Given the description of an element on the screen output the (x, y) to click on. 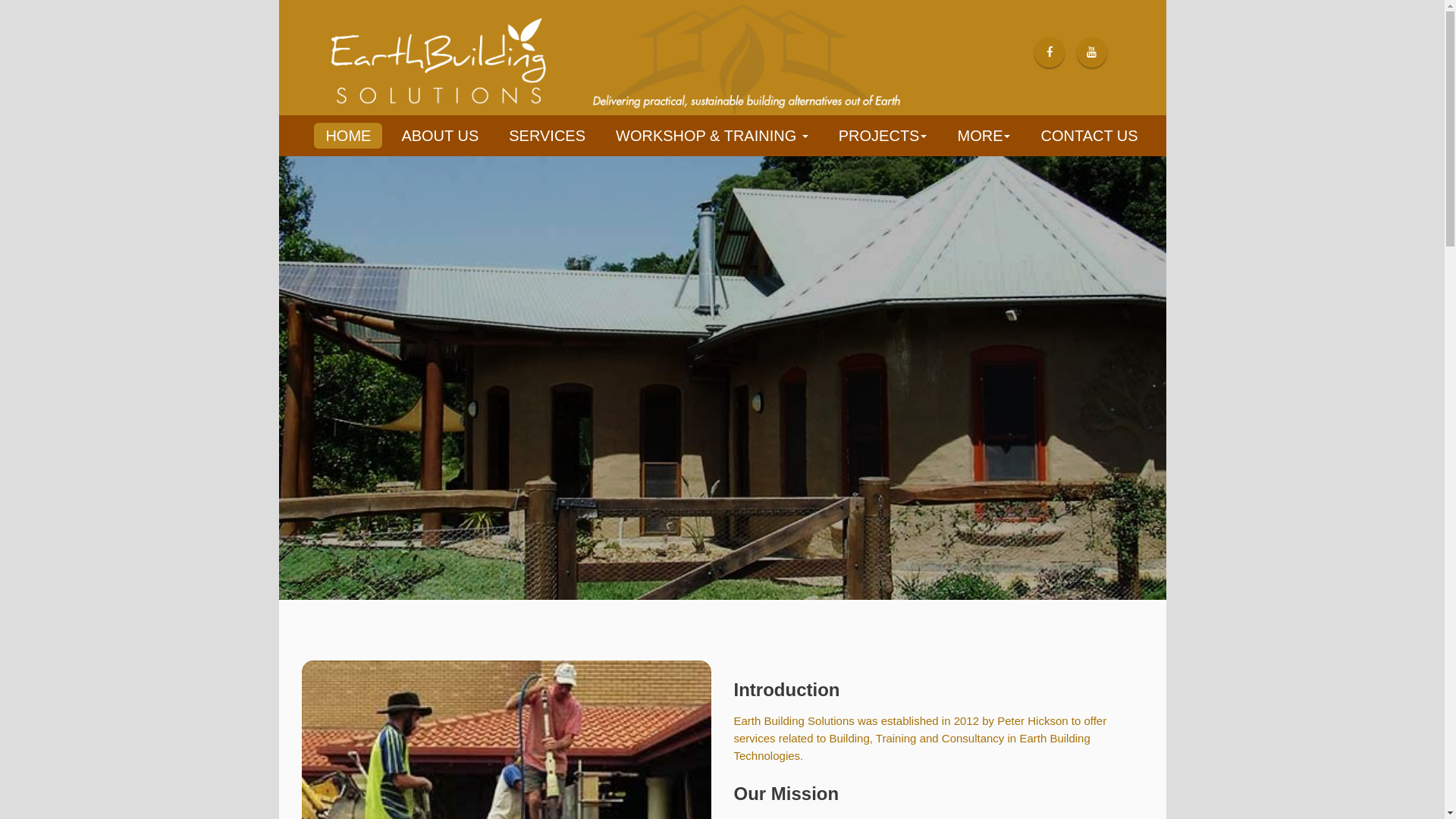
WORKSHOP & TRAINING Element type: text (711, 135)
CONTACT US Element type: text (1088, 135)
HOME Element type: text (347, 135)
Youtube Element type: hover (1091, 51)
MORE Element type: text (983, 135)
Facebook Element type: hover (1049, 51)
PROJECTS Element type: text (882, 135)
ABOUT US Element type: text (439, 135)
SERVICES Element type: text (546, 135)
